Given the description of an element on the screen output the (x, y) to click on. 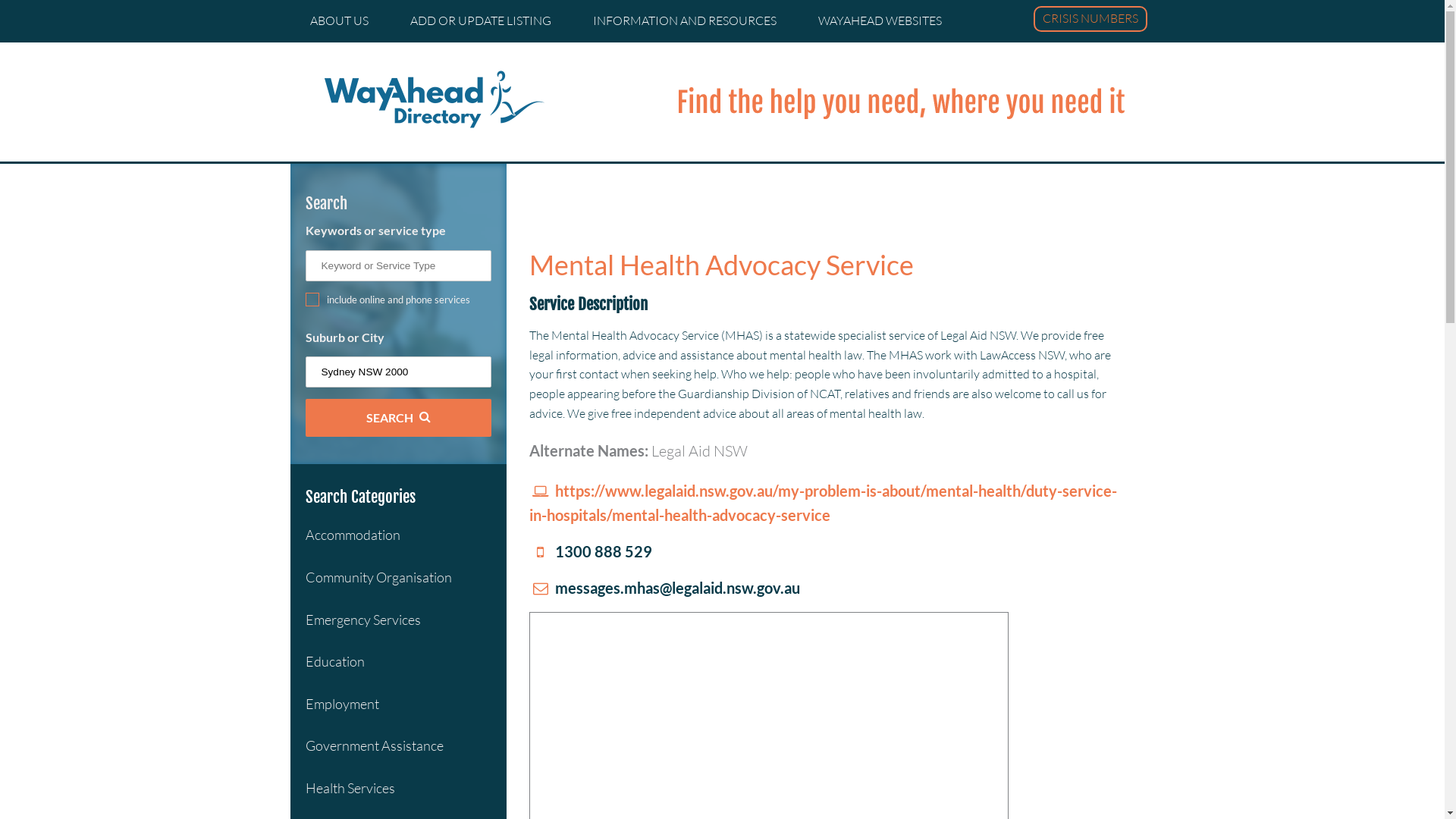
CRISIS NUMBERS Element type: text (1089, 18)
SEARCH  Element type: text (397, 417)
Government Assistance Element type: text (373, 745)
Employment Element type: text (341, 703)
Education Element type: text (334, 660)
Emergency Services Element type: text (362, 619)
Health Services Element type: text (349, 787)
1300 888 529 Element type: text (590, 551)
Accommodation Element type: text (351, 534)
ADD OR UPDATE LISTING Element type: text (479, 21)
WAYAHEAD WEBSITES Element type: text (878, 21)
ABOUT US Element type: text (338, 21)
messages.mhas@legalaid.nsw.gov.au Element type: text (664, 587)
Community Organisation Element type: text (377, 576)
INFORMATION AND RESOURCES Element type: text (684, 21)
